Given the description of an element on the screen output the (x, y) to click on. 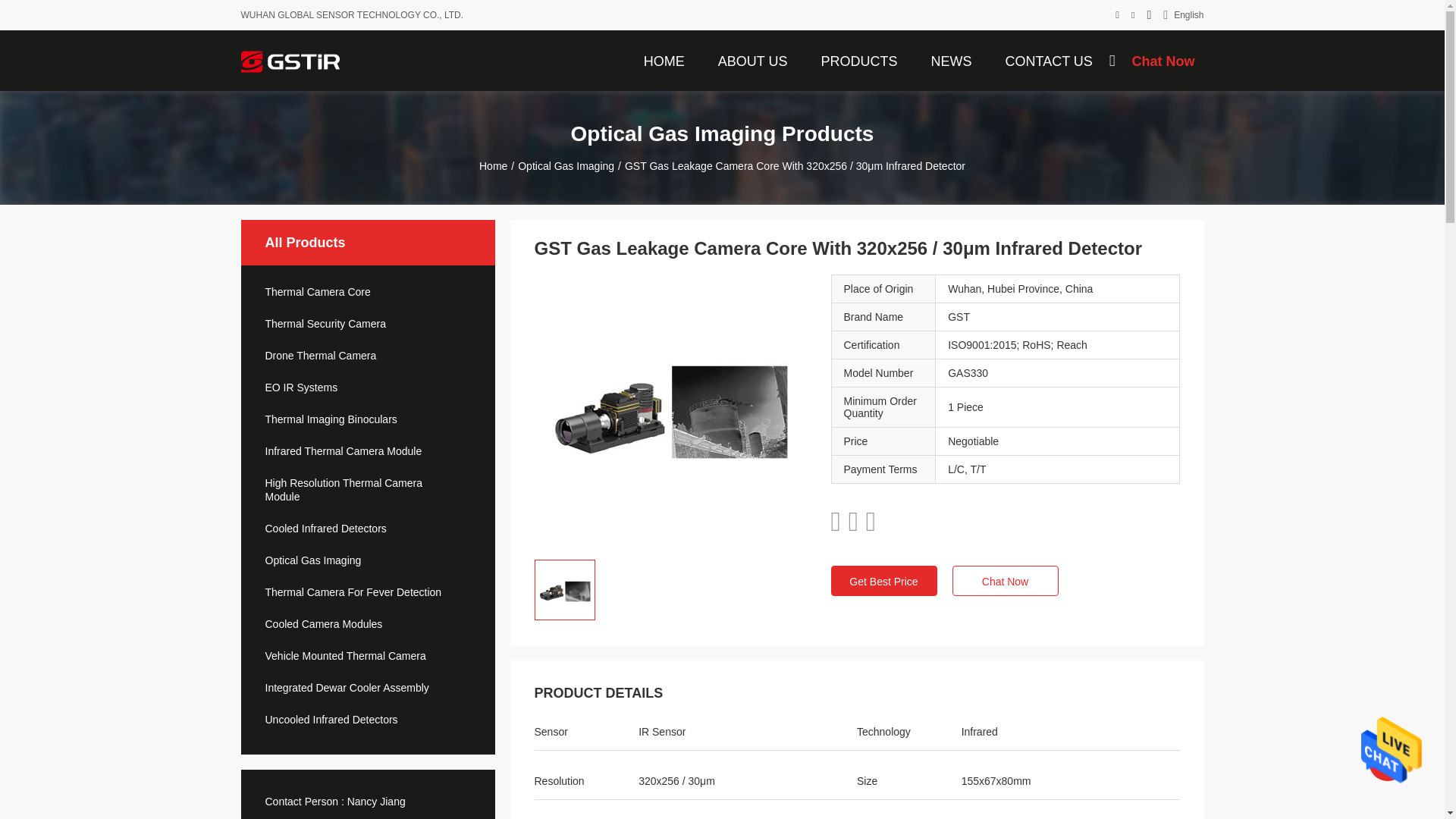
HOME (664, 60)
ABOUT US (752, 60)
PRODUCTS (857, 60)
